Given the description of an element on the screen output the (x, y) to click on. 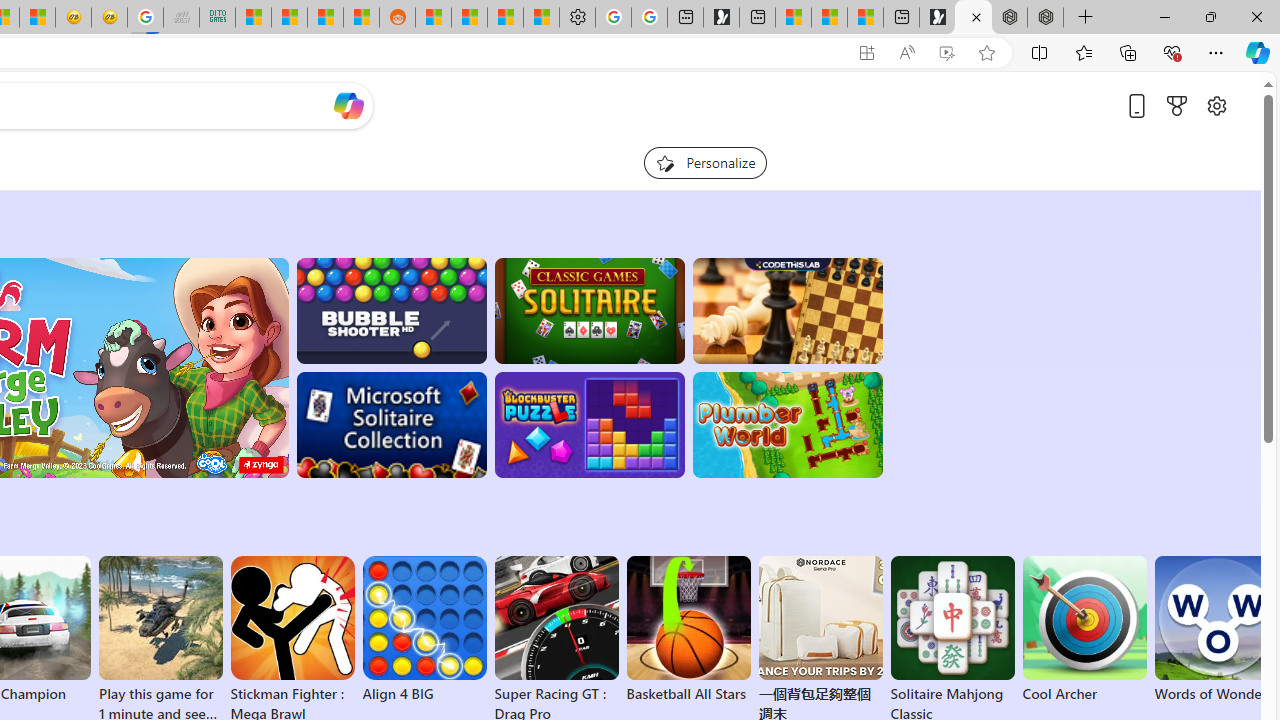
Cool Archer (1083, 629)
R******* | Trusted Community Engagement and Contributions (433, 17)
